Given the description of an element on the screen output the (x, y) to click on. 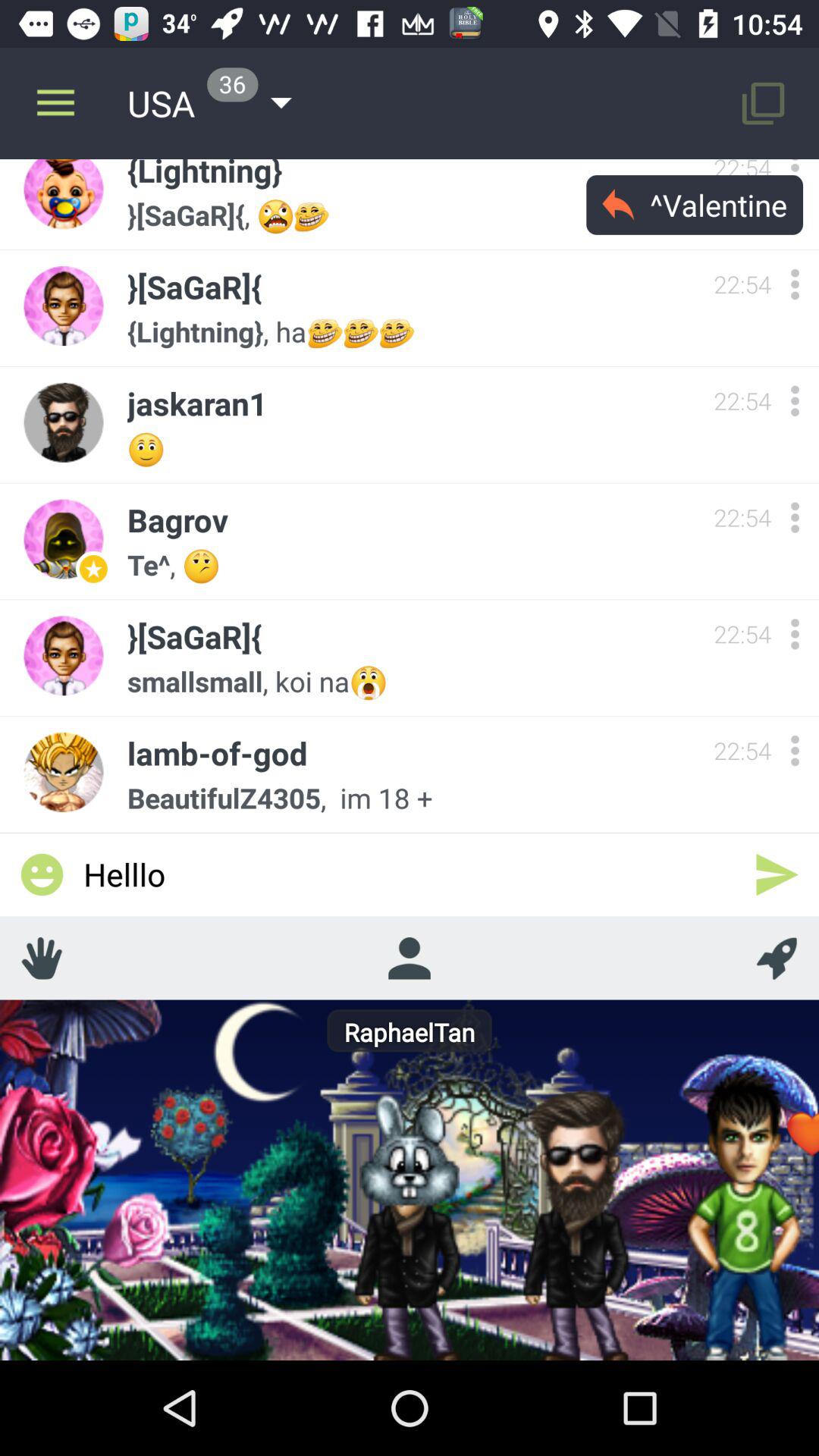
more options for this profile (795, 750)
